Given the description of an element on the screen output the (x, y) to click on. 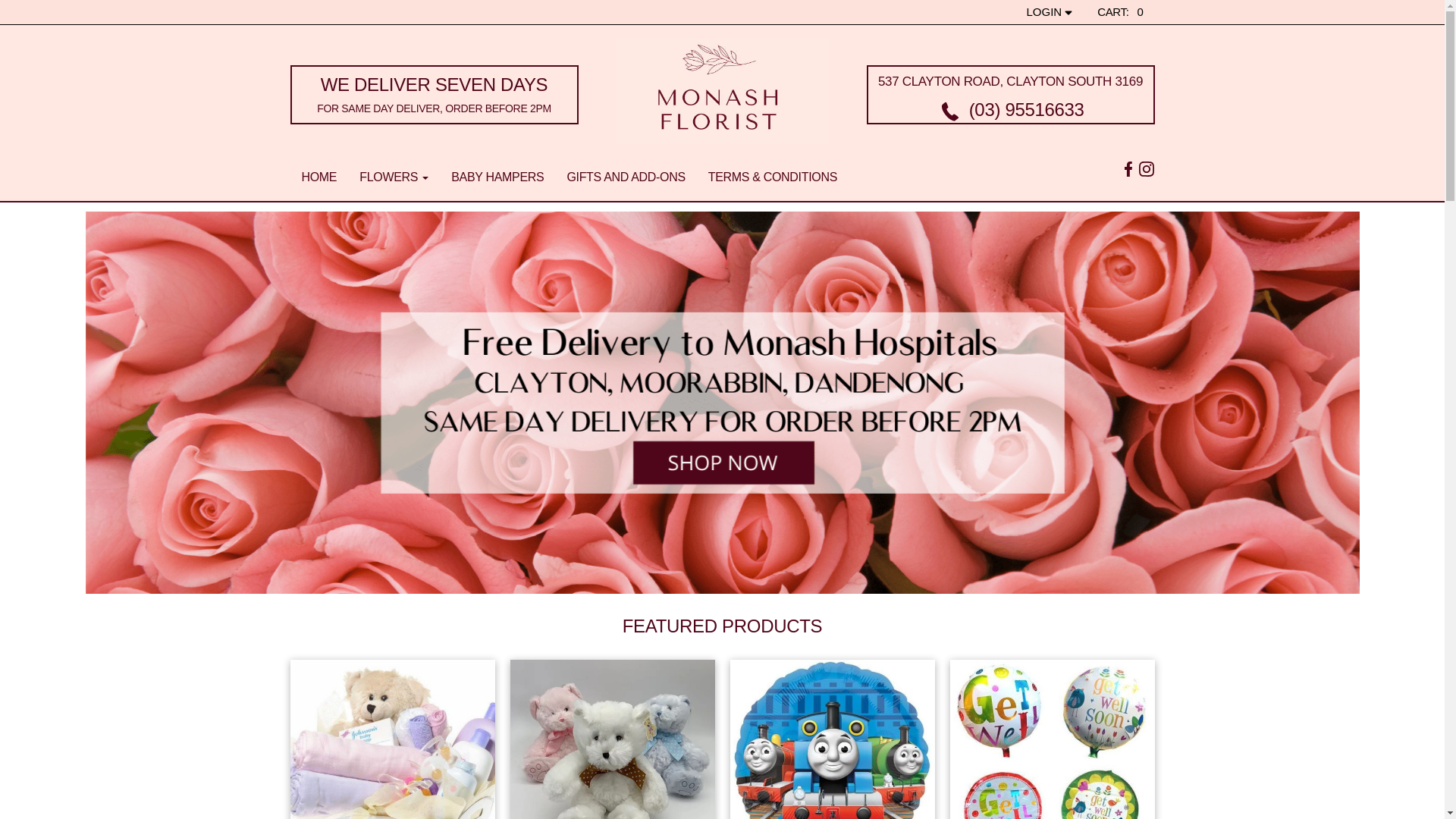
Monash Florist Element type: hover (721, 90)
GIFTS AND ADD-ONS Element type: text (625, 178)
instagram [#50061a] Created with Sketch. Element type: text (1146, 167)
BABY HAMPERS Element type: text (497, 178)
FLOWERS Element type: text (393, 178)
LOGIN Element type: text (1050, 12)
CART: 0 Element type: text (1119, 11)
(03) 95516633 Element type: text (1009, 109)
TERMS & CONDITIONS Element type: text (772, 178)
facebook [#50061a] Created with Sketch. Element type: text (1127, 167)
HOME Element type: text (318, 178)
